Given the description of an element on the screen output the (x, y) to click on. 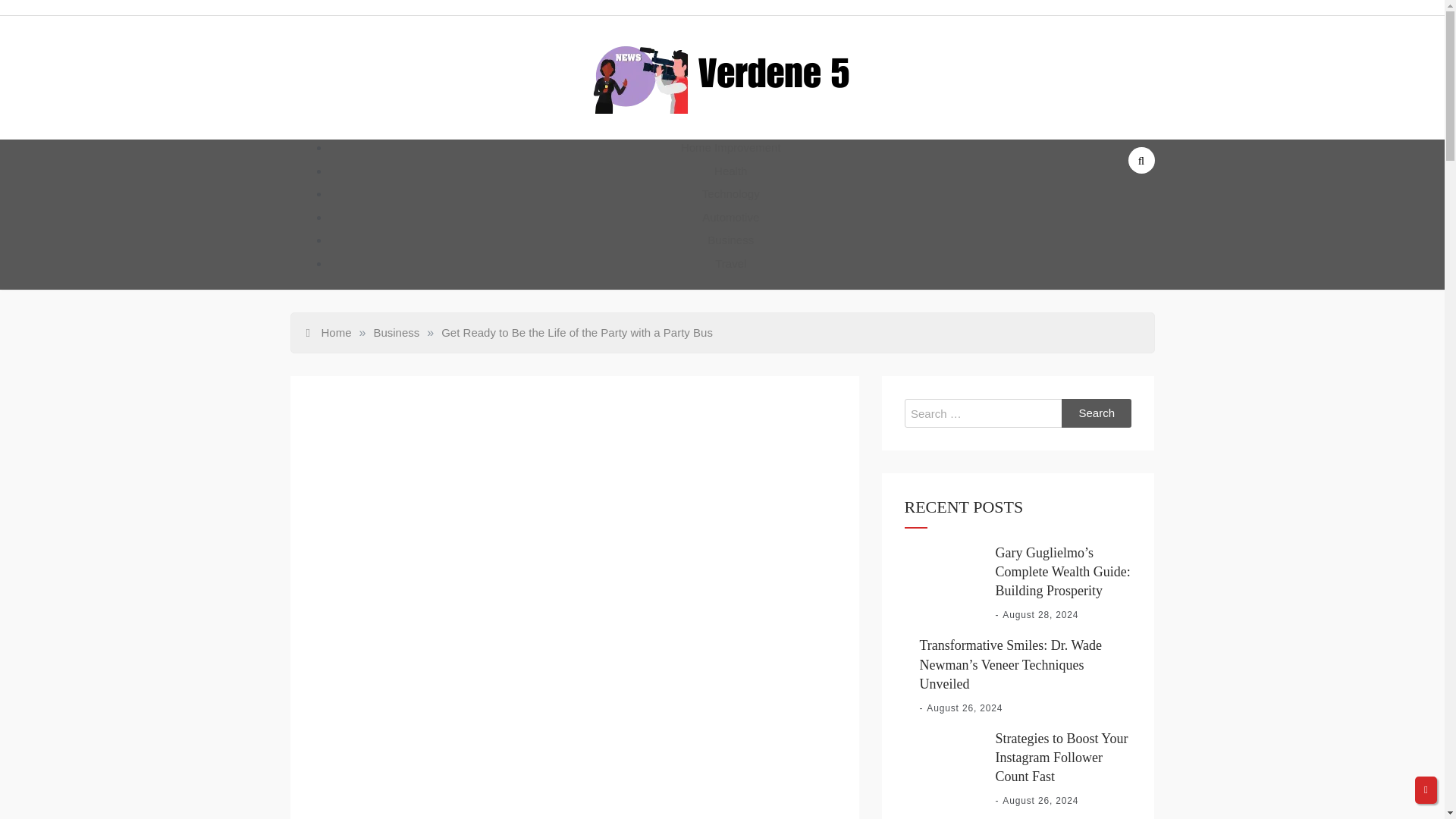
Home (328, 332)
Technology (730, 193)
Business (395, 332)
Verdene 5 (650, 139)
Get Ready to Be the Life of the Party with a Party Bus (577, 332)
Travel (729, 262)
Search (1096, 412)
Business (730, 239)
Home Improvement (730, 146)
Search (1096, 412)
